Given the description of an element on the screen output the (x, y) to click on. 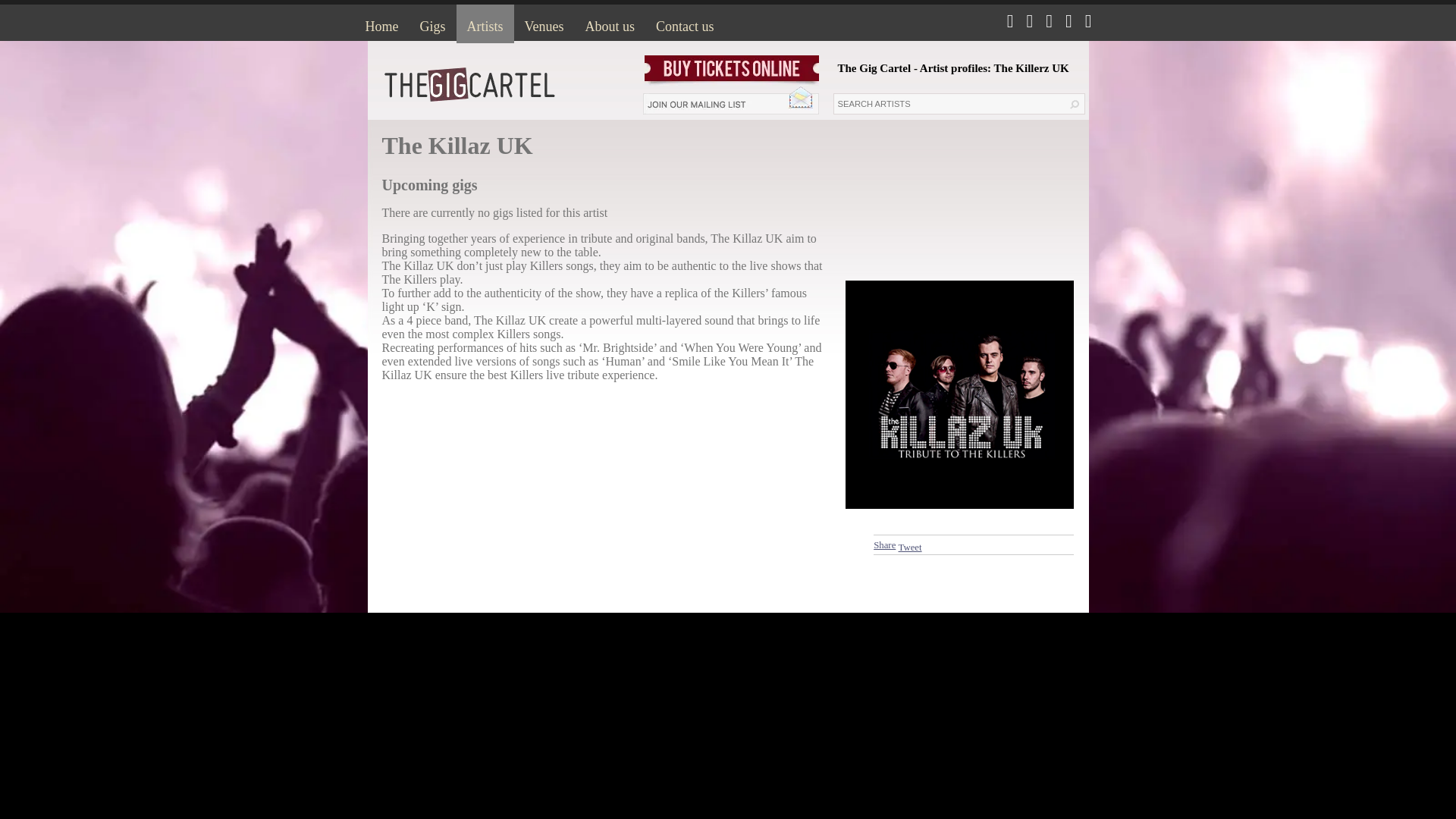
Search artists (948, 103)
Artists (485, 23)
Contact us (685, 23)
Gigs (433, 23)
Tweet (909, 547)
Share (884, 544)
Home (382, 23)
About us (610, 23)
Venues (544, 23)
